Given the description of an element on the screen output the (x, y) to click on. 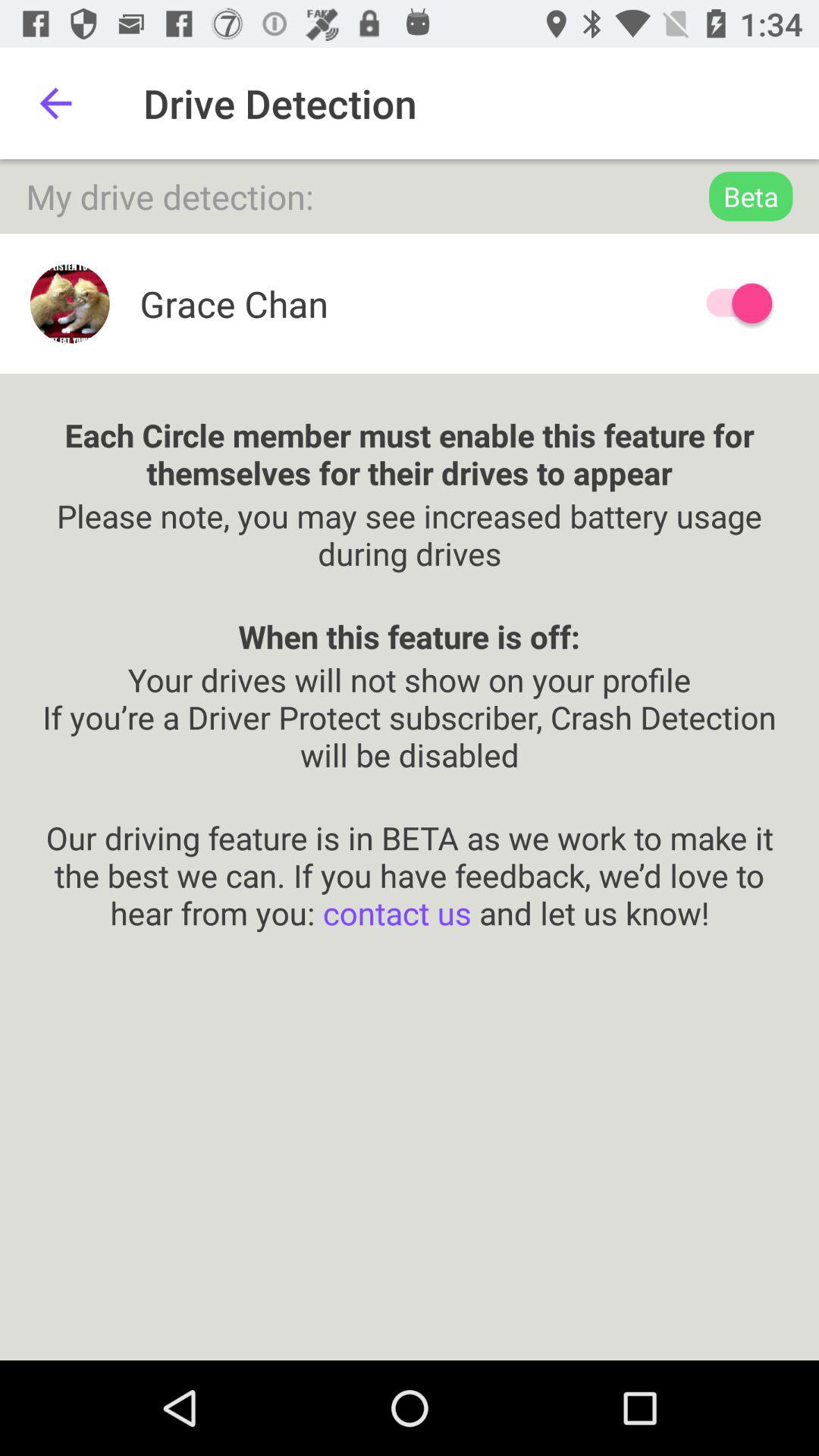
flip until the our driving feature item (409, 855)
